Given the description of an element on the screen output the (x, y) to click on. 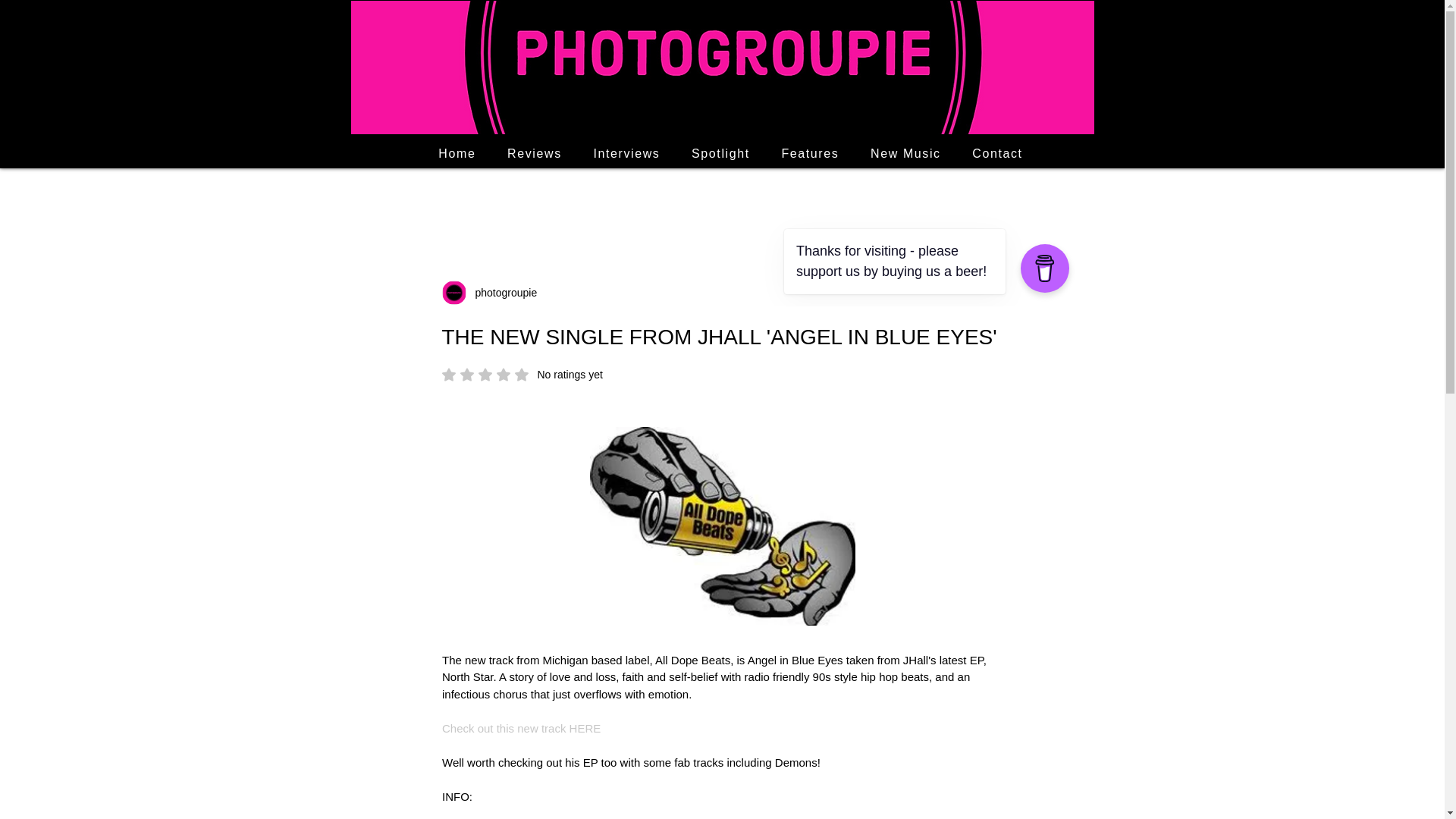
Buy us a beer (880, 241)
Contact (997, 153)
photogroupie (521, 374)
Spotlight (501, 293)
New Music (719, 153)
Home (905, 153)
Interviews (457, 153)
Features (626, 153)
Check out this new track HERE (809, 153)
